Given the description of an element on the screen output the (x, y) to click on. 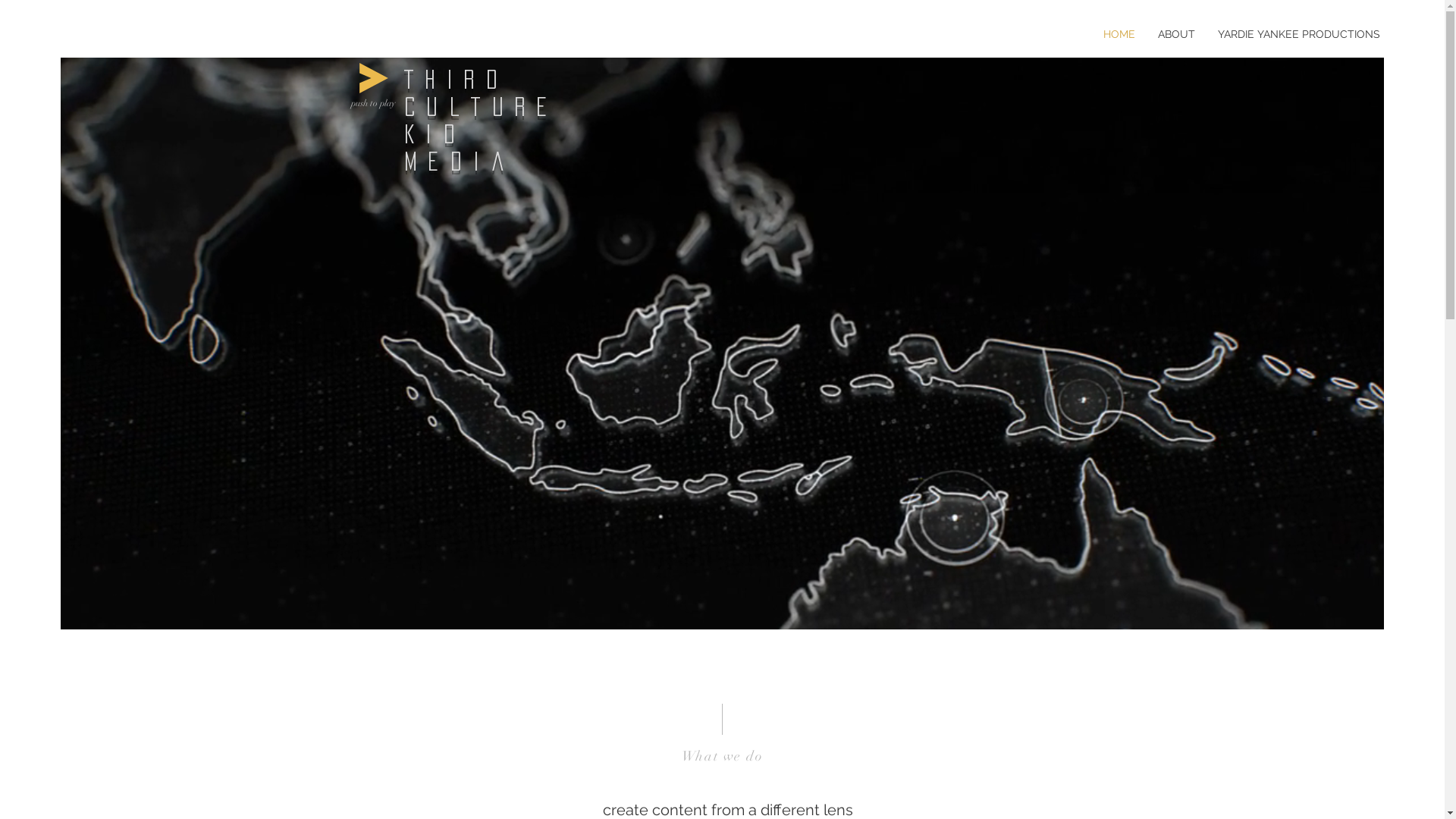
YARDIE YANKEE PRODUCTIONS Element type: text (1298, 34)
HOME Element type: text (1119, 34)
ABOUT Element type: text (1176, 34)
